Given the description of an element on the screen output the (x, y) to click on. 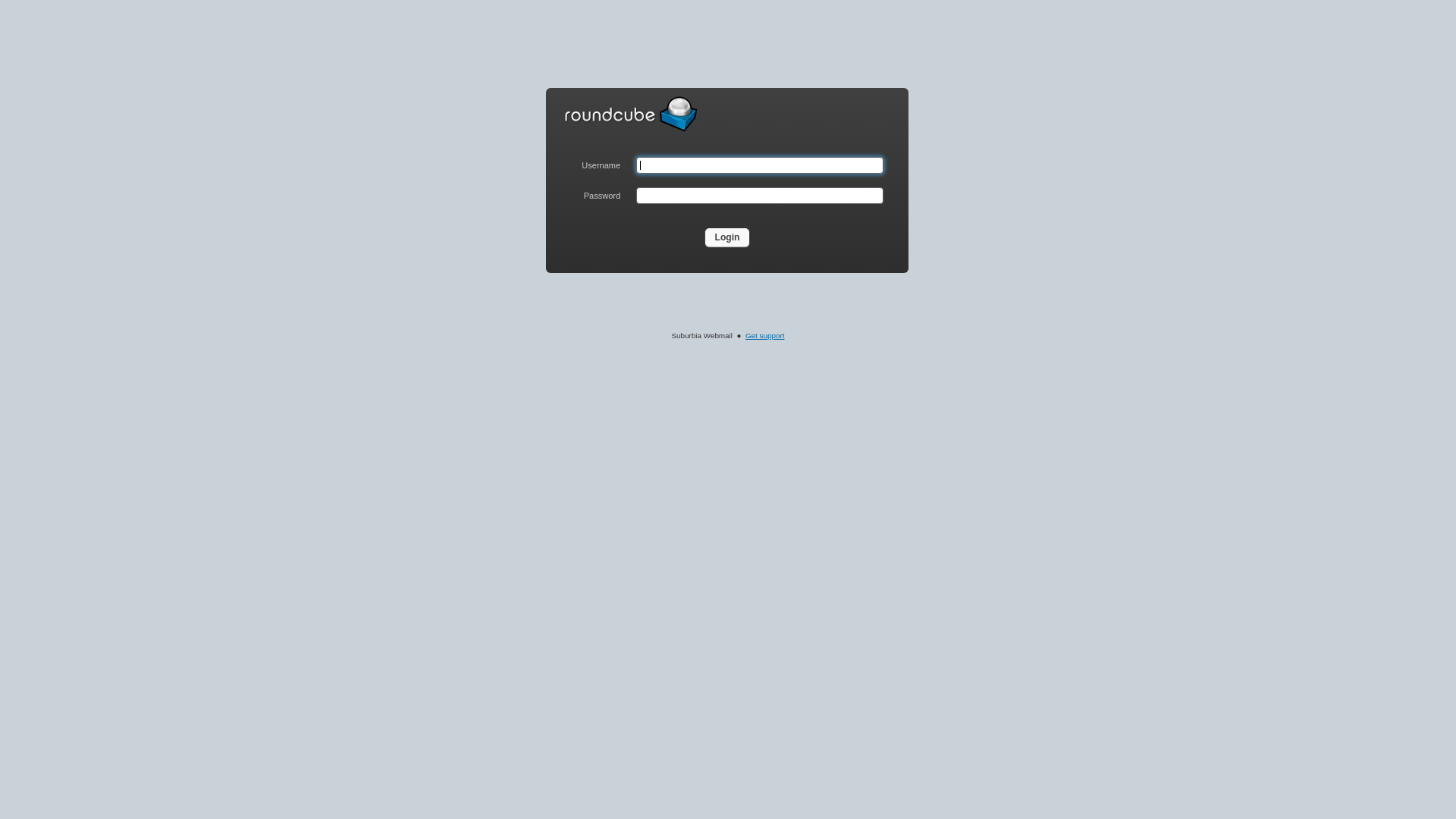
Login Element type: text (727, 237)
Get support Element type: text (764, 335)
